Given the description of an element on the screen output the (x, y) to click on. 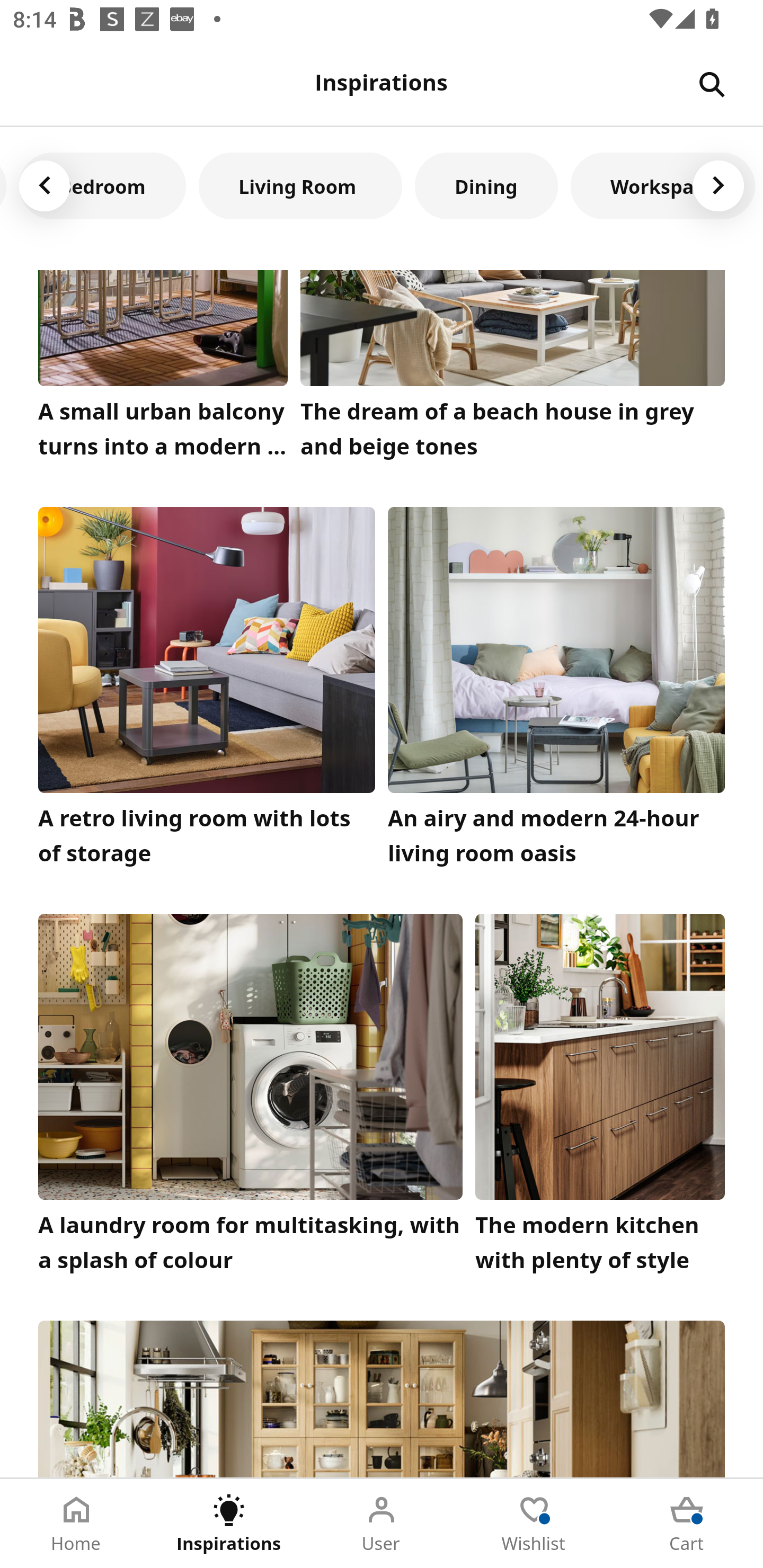
Living Room  (300, 185)
Dining (486, 185)
The dream of a beach house in grey and beige tones (512, 368)
A retro living room with lots of storage (206, 690)
An airy and modern 24-hour living room oasis (555, 690)
The modern kitchen with plenty of style (599, 1098)
Home
Tab 1 of 5 (76, 1522)
Inspirations
Tab 2 of 5 (228, 1522)
User
Tab 3 of 5 (381, 1522)
Wishlist
Tab 4 of 5 (533, 1522)
Cart
Tab 5 of 5 (686, 1522)
